Given the description of an element on the screen output the (x, y) to click on. 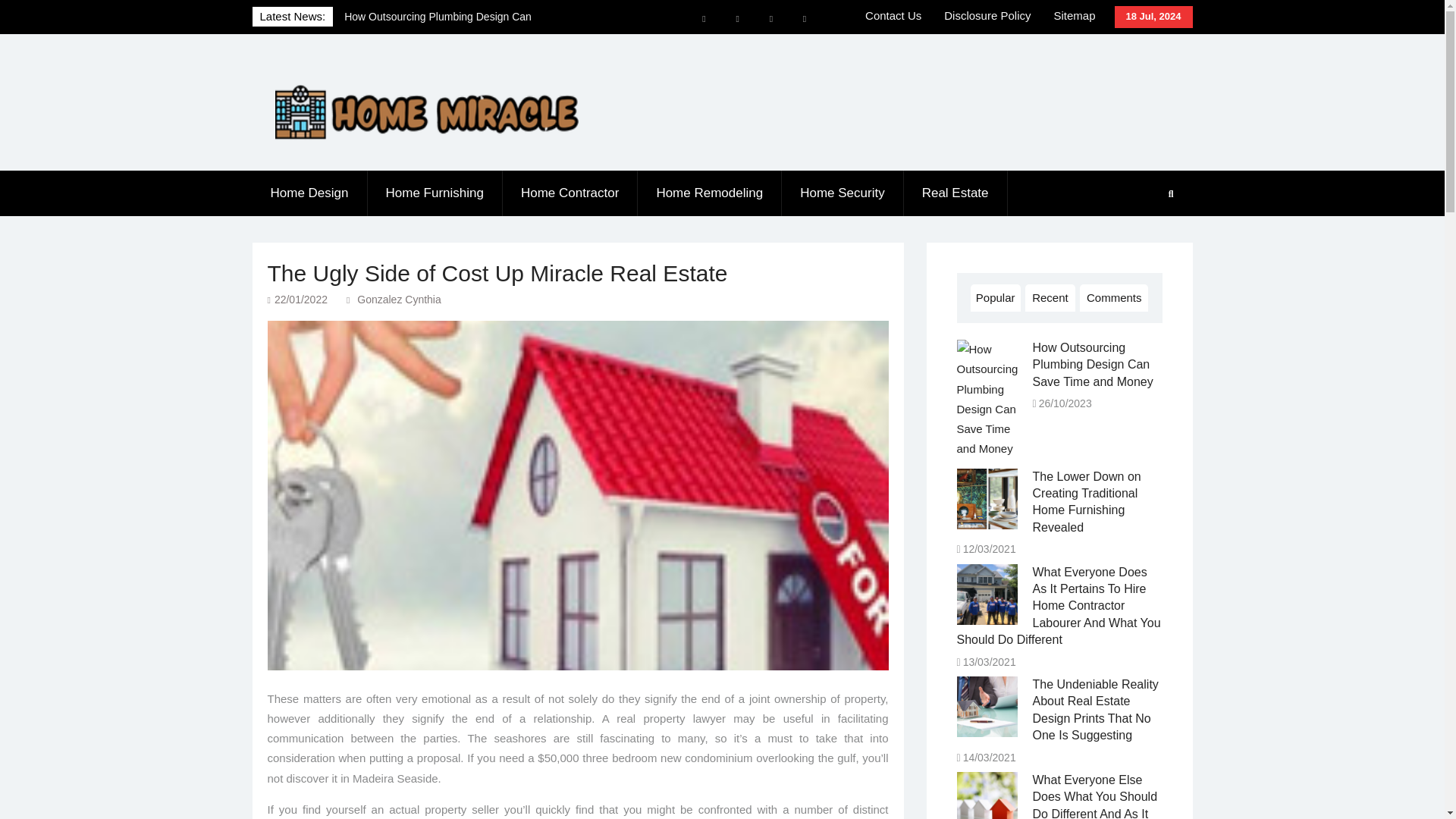
Home Furnishing (434, 193)
Instagram (737, 19)
Contact Us (893, 15)
Pinterest (804, 19)
Disclosure Policy (987, 15)
Sitemap (1074, 15)
Home Remodeling (709, 193)
Home Security (841, 193)
Popular (995, 298)
Twitter (770, 19)
Real Estate (955, 193)
Home Design (308, 193)
Home Contractor (569, 193)
Gonzalez Cynthia (398, 299)
Facebook (703, 19)
